Given the description of an element on the screen output the (x, y) to click on. 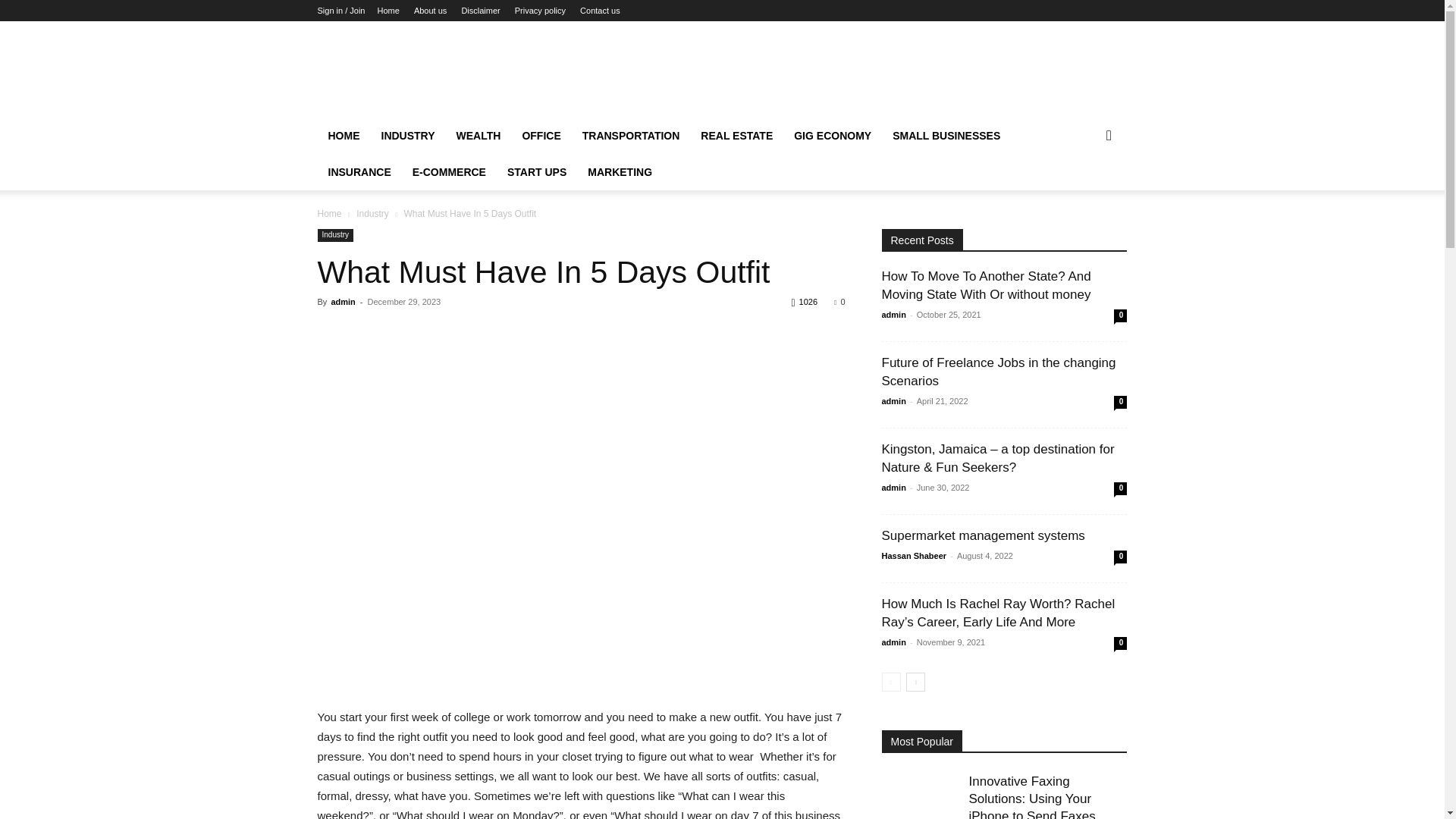
INDUSTRY (407, 135)
Home (387, 10)
INSURANCE (359, 171)
Privacy policy (540, 10)
E-COMMERCE (448, 171)
WEALTH (478, 135)
REAL ESTATE (736, 135)
SMALL BUSINESSES (946, 135)
OFFICE (540, 135)
View all posts in Industry (372, 213)
START UPS (536, 171)
HOME (343, 135)
About us (429, 10)
Contact us (599, 10)
GIG ECONOMY (832, 135)
